Given the description of an element on the screen output the (x, y) to click on. 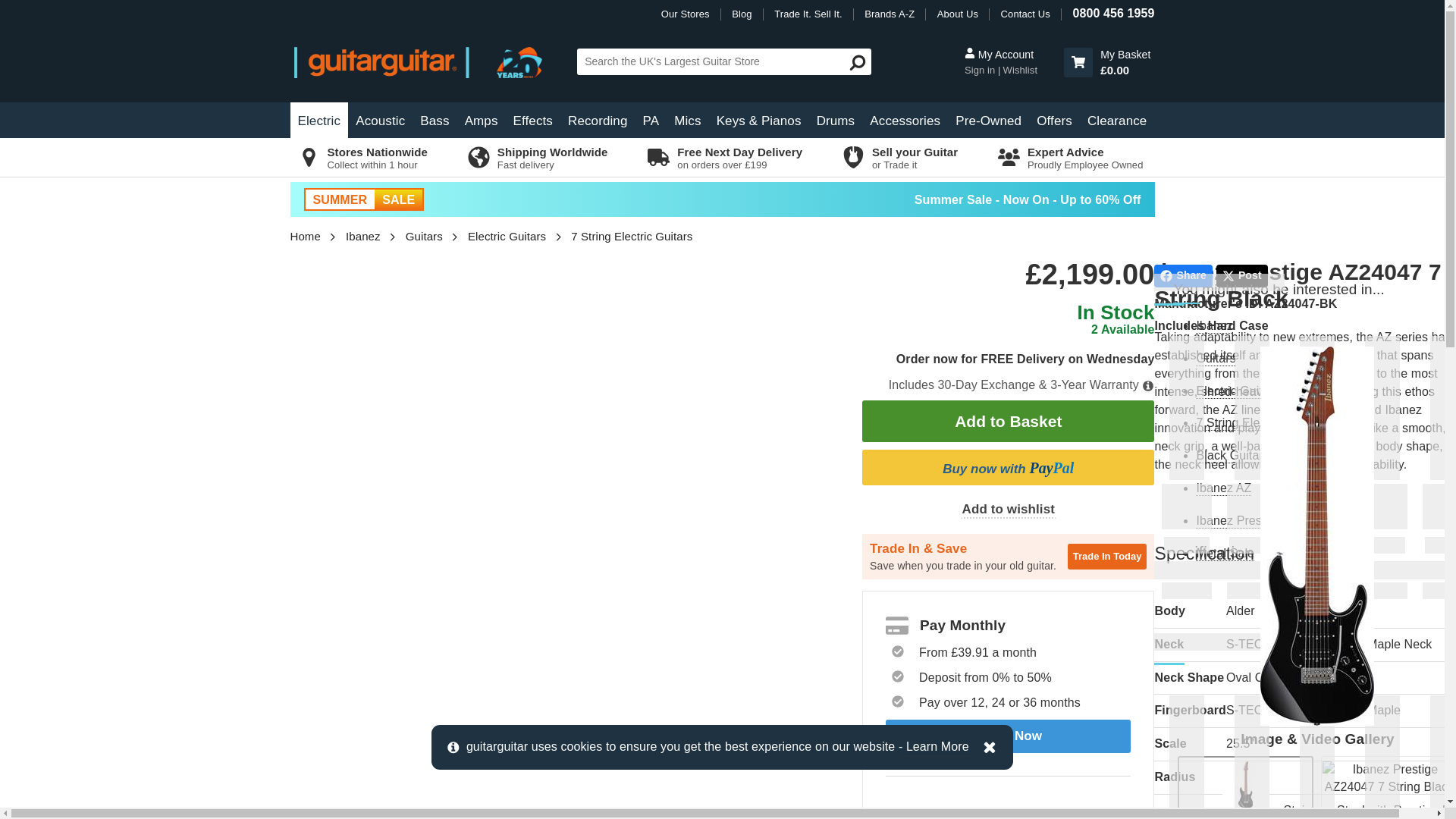
Brands A-Z (889, 13)
About Us (957, 13)
Checkout (1106, 62)
Blog (741, 13)
Wishlist (1016, 70)
guitarguitar (428, 61)
Our Stores (685, 13)
Electric Guitars (318, 120)
Brands A-Z (889, 13)
Contact Us (1025, 13)
Electric (318, 120)
Sign in (980, 70)
Our Guitar Shops (685, 13)
Checkout (1078, 61)
My Account (980, 70)
